Given the description of an element on the screen output the (x, y) to click on. 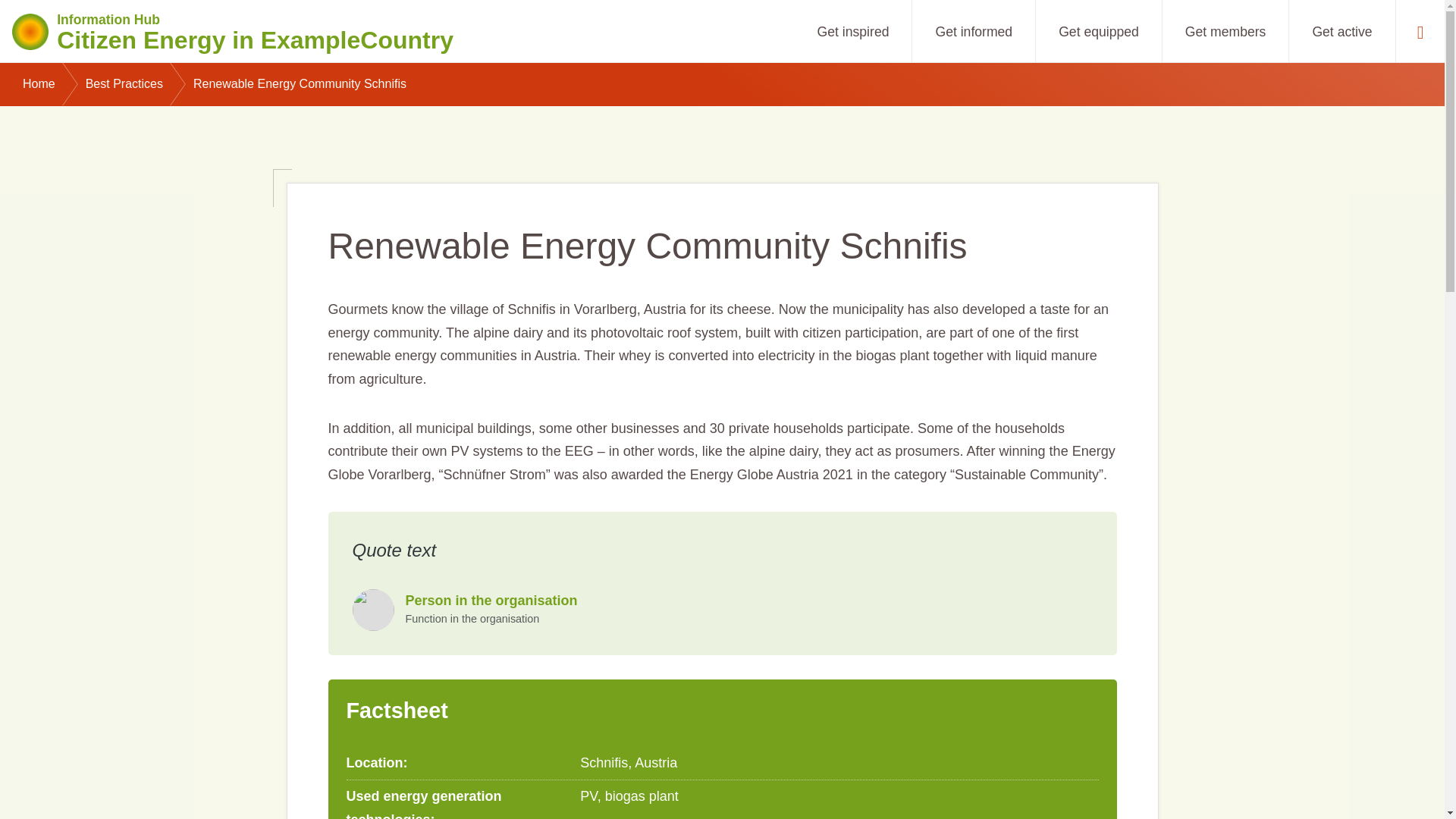
Get inspired (853, 31)
Get active (232, 30)
Get equipped (1341, 31)
Get informed (1098, 31)
Get members (973, 31)
